Given the description of an element on the screen output the (x, y) to click on. 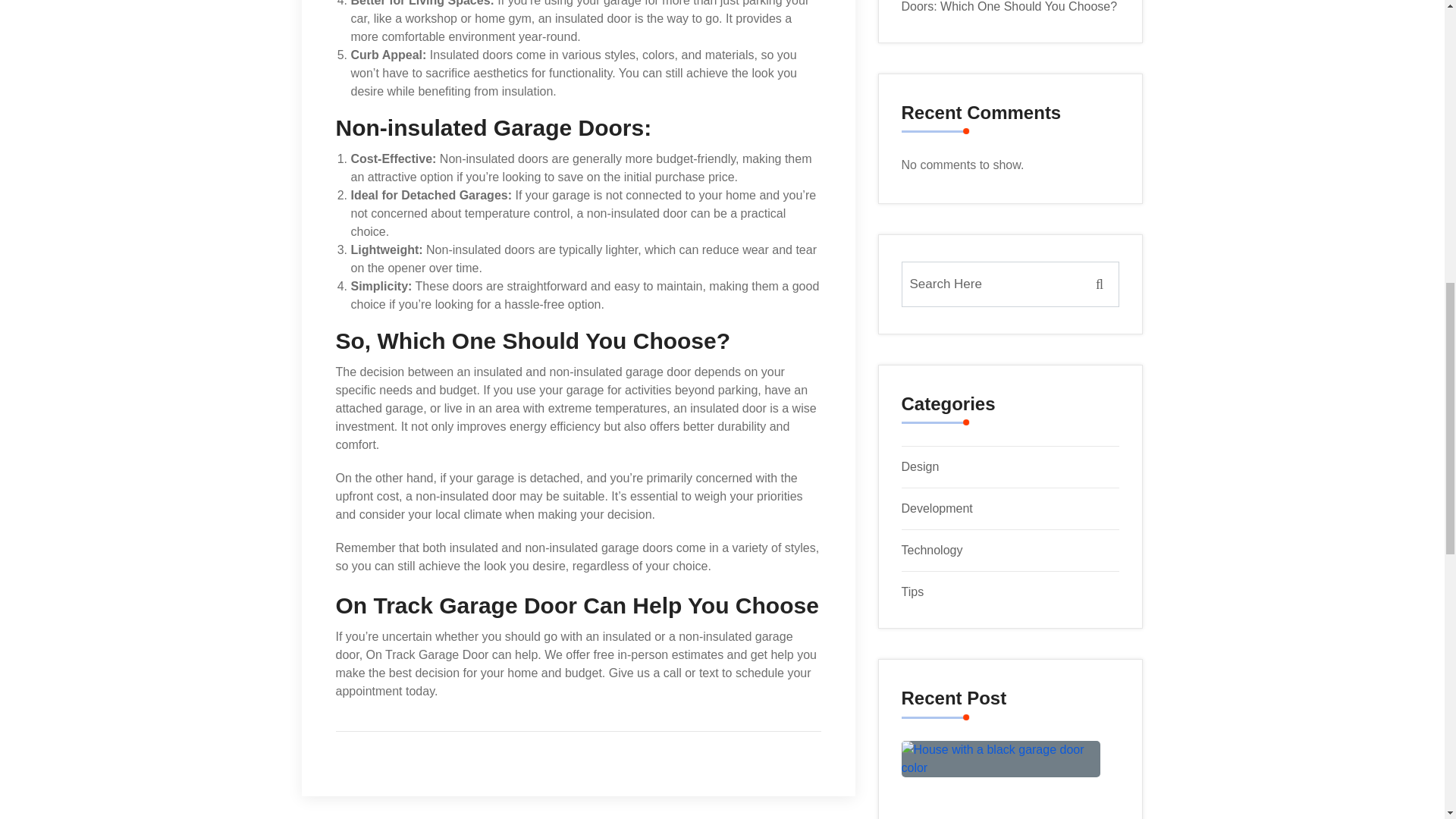
Development (936, 508)
Search for: (1010, 284)
Tips (912, 591)
Design (920, 466)
Technology (931, 549)
